Given the description of an element on the screen output the (x, y) to click on. 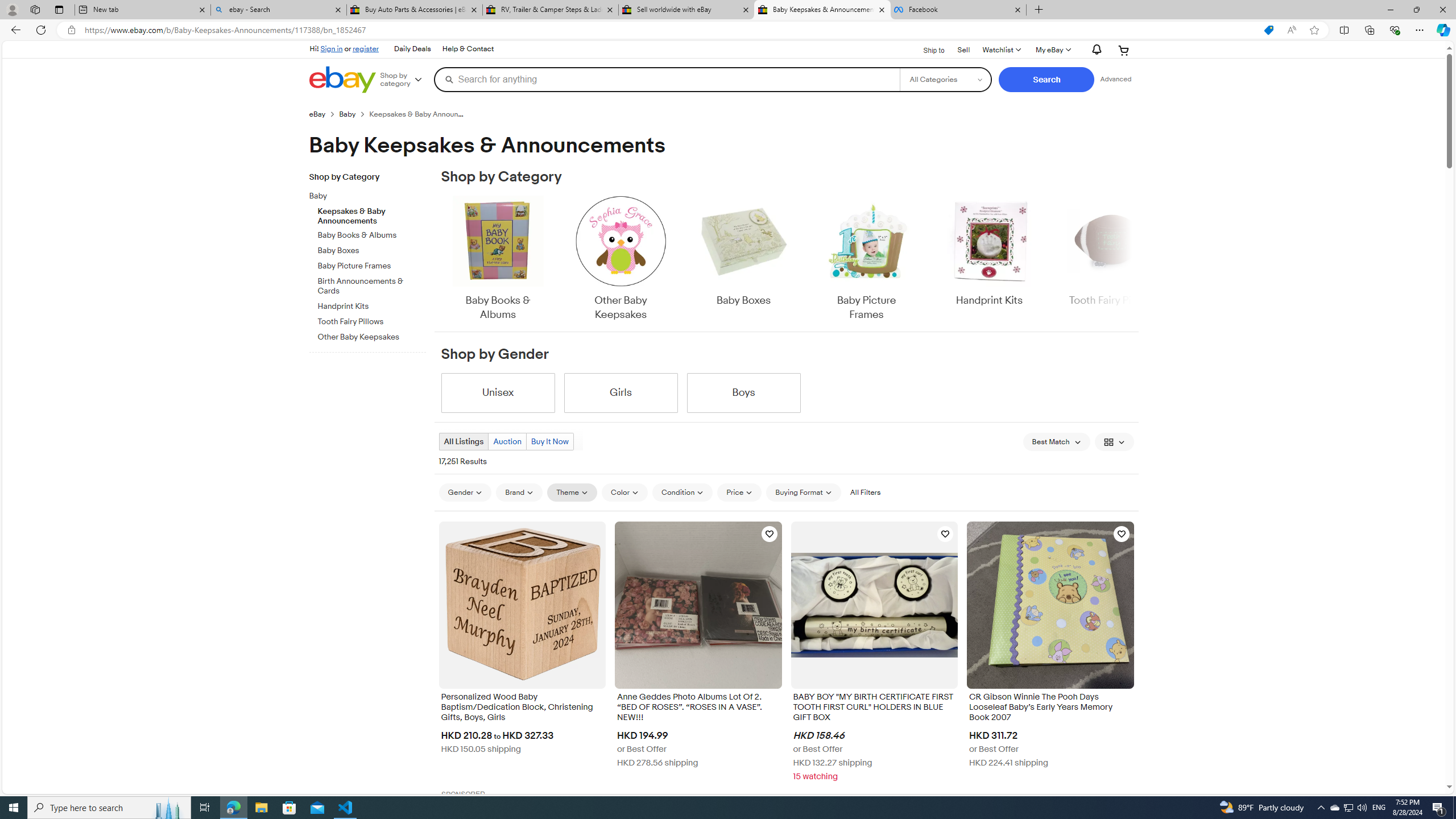
My eBayExpand My eBay (1052, 49)
All Filters (864, 492)
Sort: Best Match (1056, 441)
register (366, 48)
Girls (620, 392)
Ship to (926, 49)
All Listings Current view (464, 441)
Other Baby Keepsakes (620, 258)
Other Baby Keepsakes (620, 258)
Facebook (957, 9)
Address and search bar (669, 29)
Gender (465, 492)
